Given the description of an element on the screen output the (x, y) to click on. 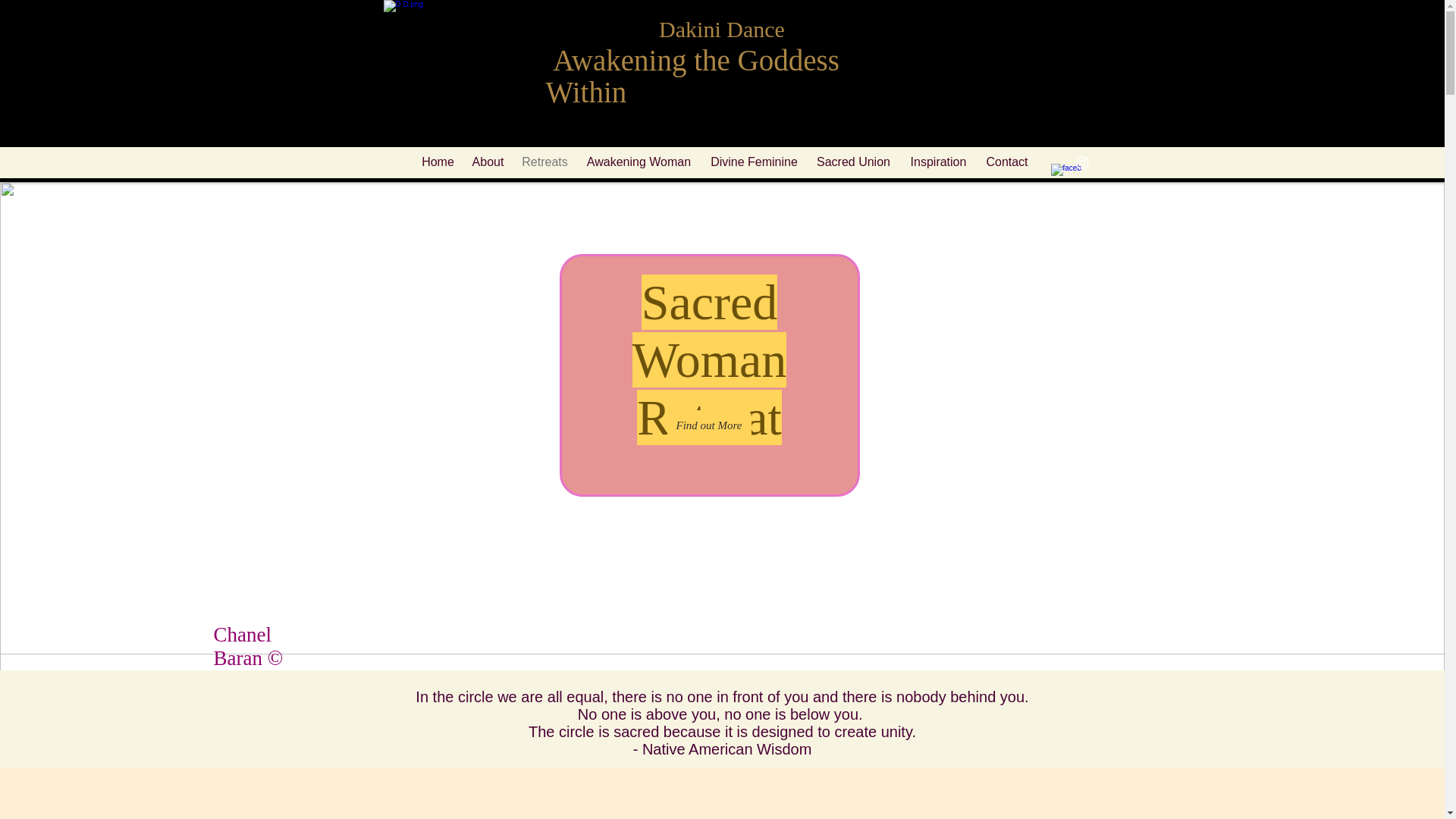
Divine Feminine (753, 161)
Find out More (708, 425)
Retreats (544, 161)
Contact (1006, 161)
Awakening the Goddess Within (693, 76)
Home (437, 161)
Awakening Woman (638, 161)
About (487, 161)
Sacred Union (852, 161)
Dakini Dance (721, 28)
